Given the description of an element on the screen output the (x, y) to click on. 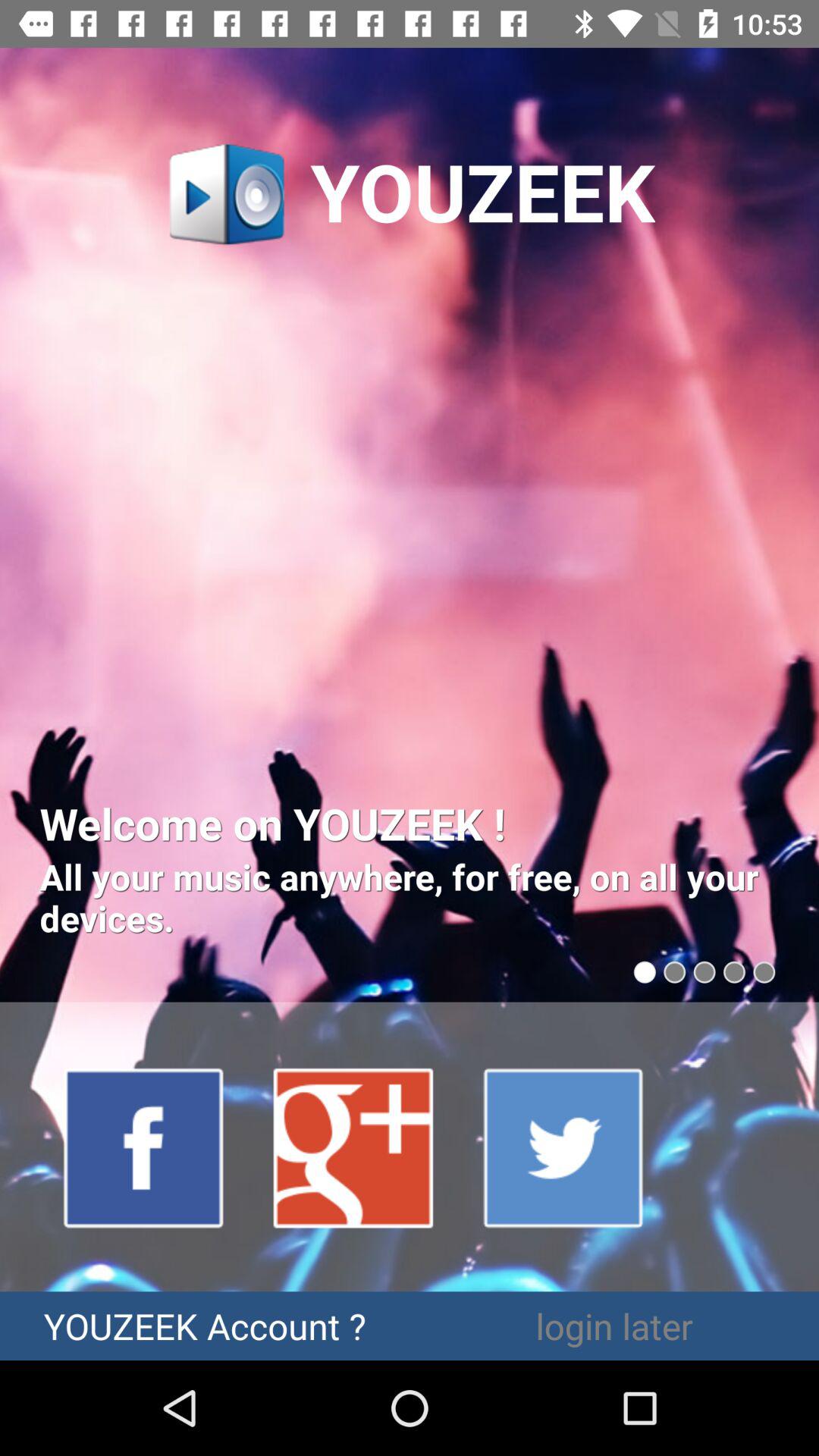
select google plus (354, 1146)
